Given the description of an element on the screen output the (x, y) to click on. 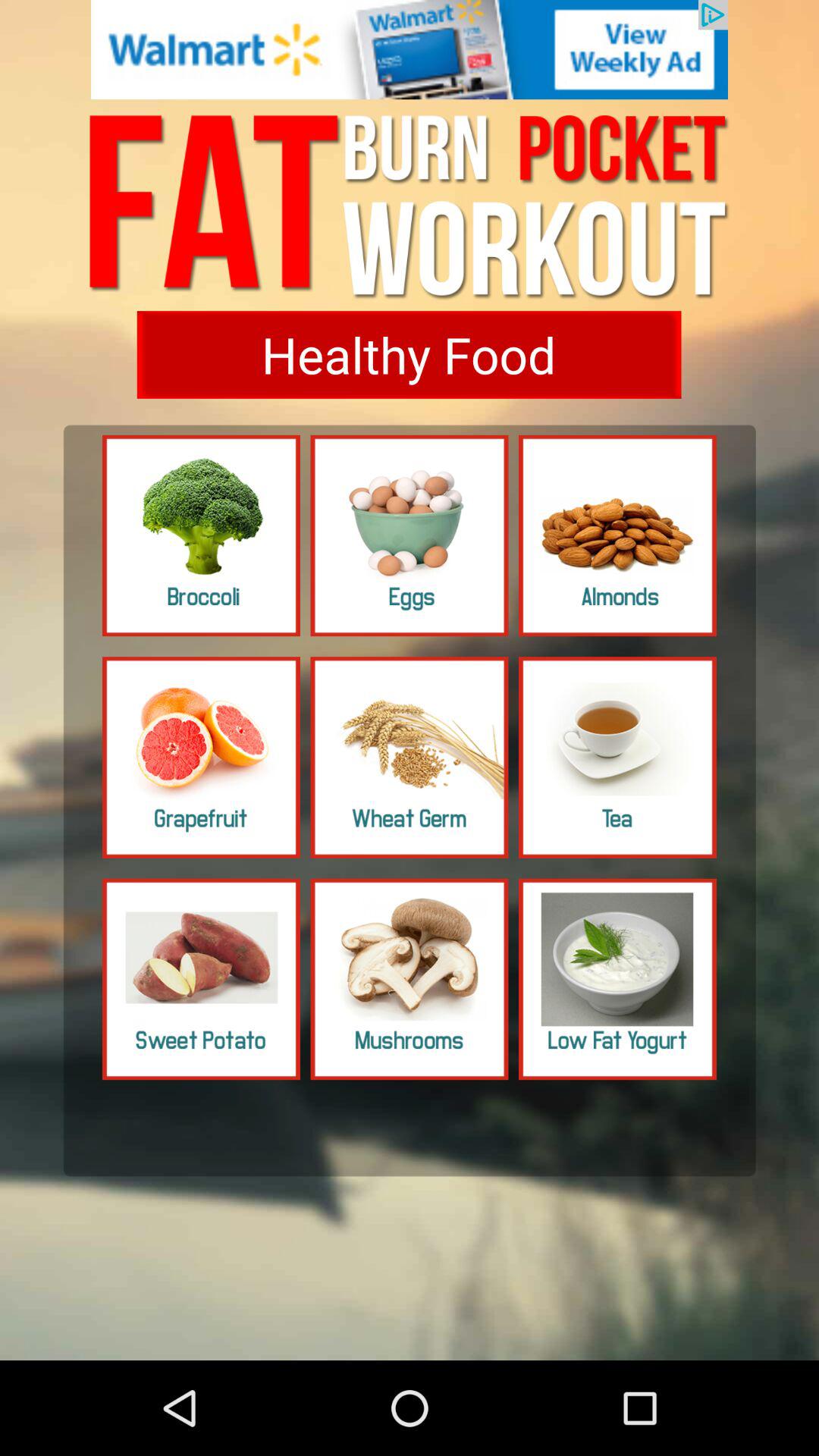
click eggs icon (409, 535)
